Given the description of an element on the screen output the (x, y) to click on. 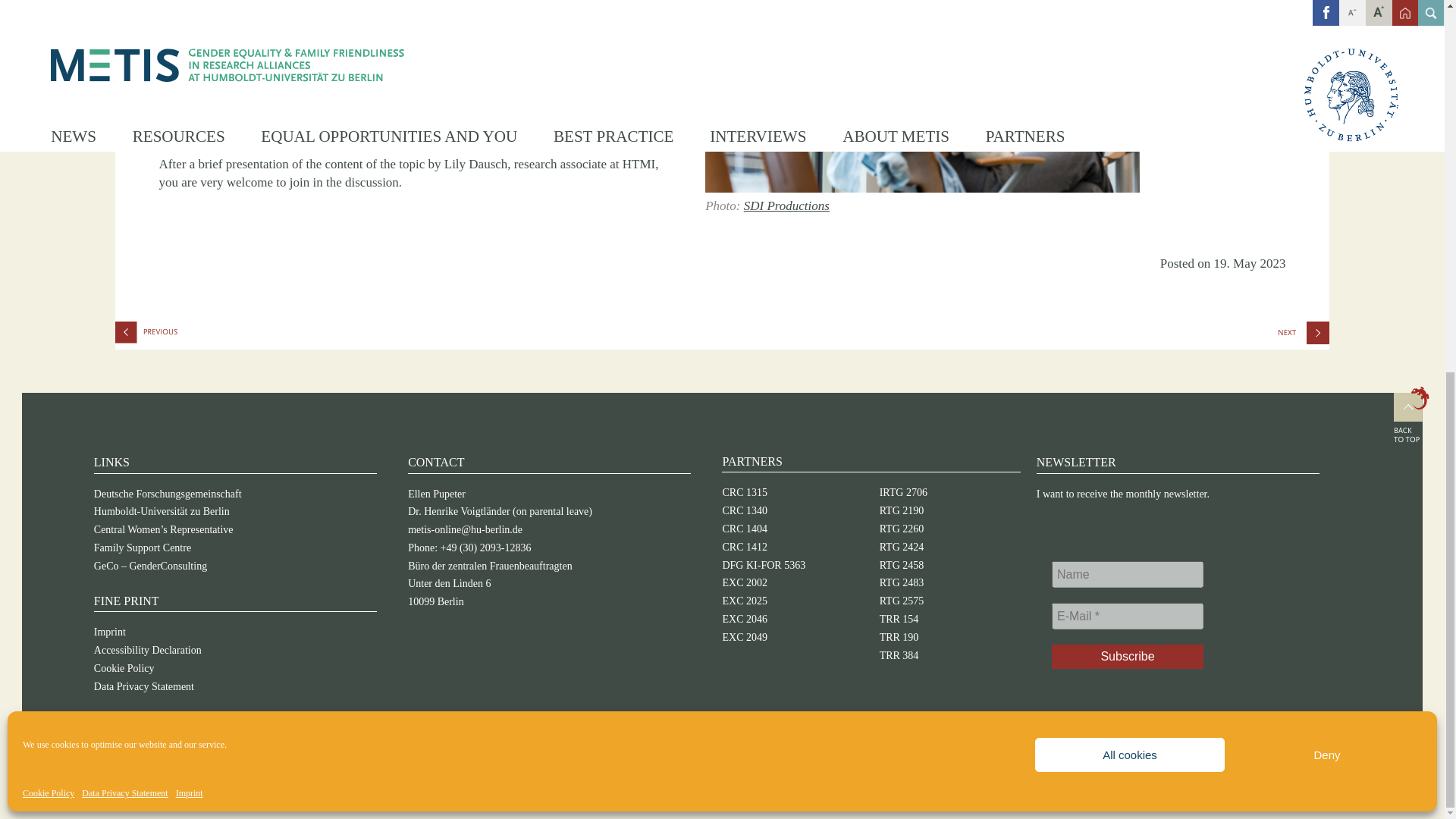
Imprint (189, 113)
Cookie Policy (48, 113)
Top (1411, 416)
All cookies (1129, 75)
Scroll to Top (1411, 416)
Data Privacy Statement (124, 113)
Deny (1326, 75)
